Given the description of an element on the screen output the (x, y) to click on. 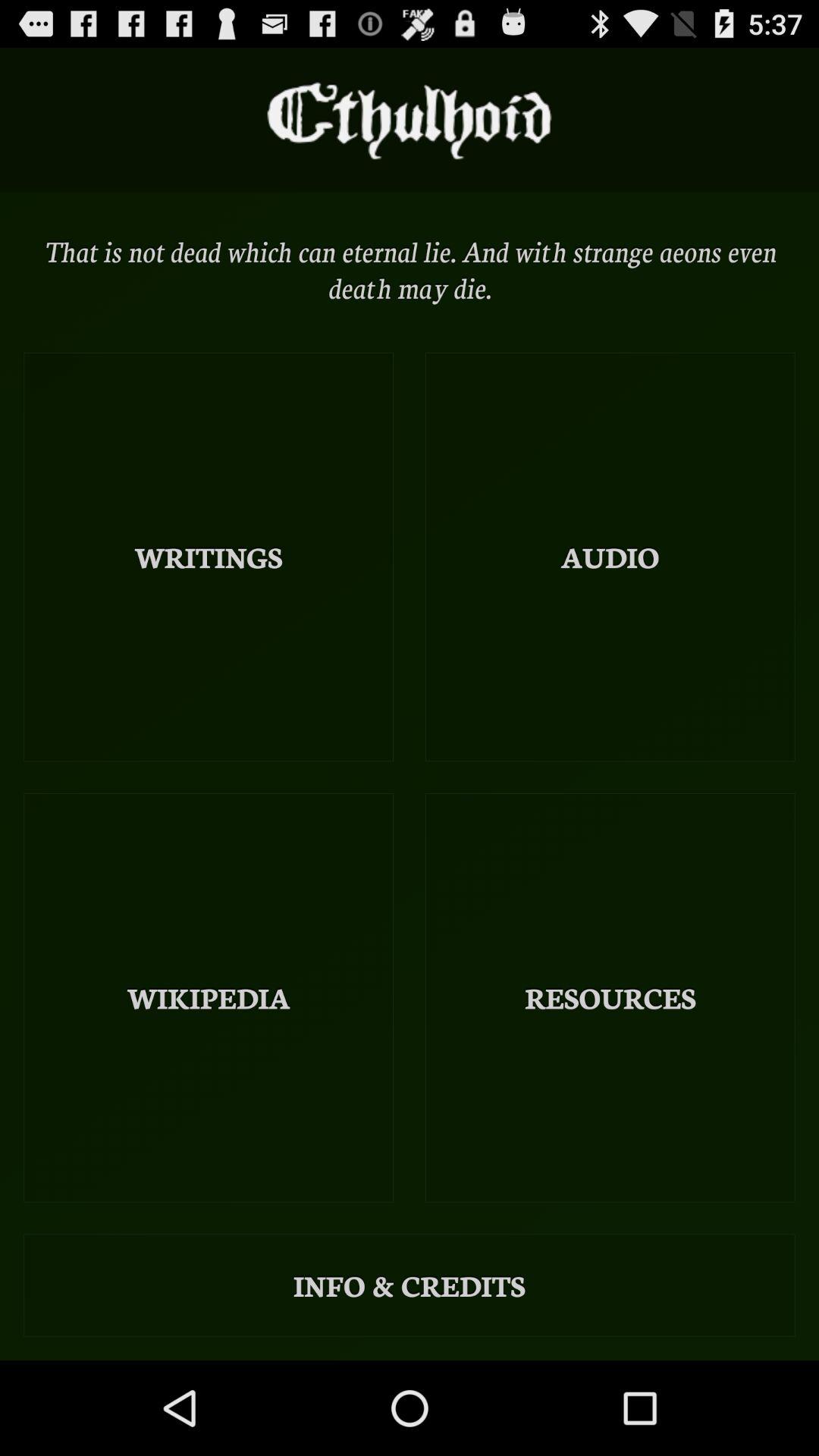
launch icon on the left (208, 556)
